Given the description of an element on the screen output the (x, y) to click on. 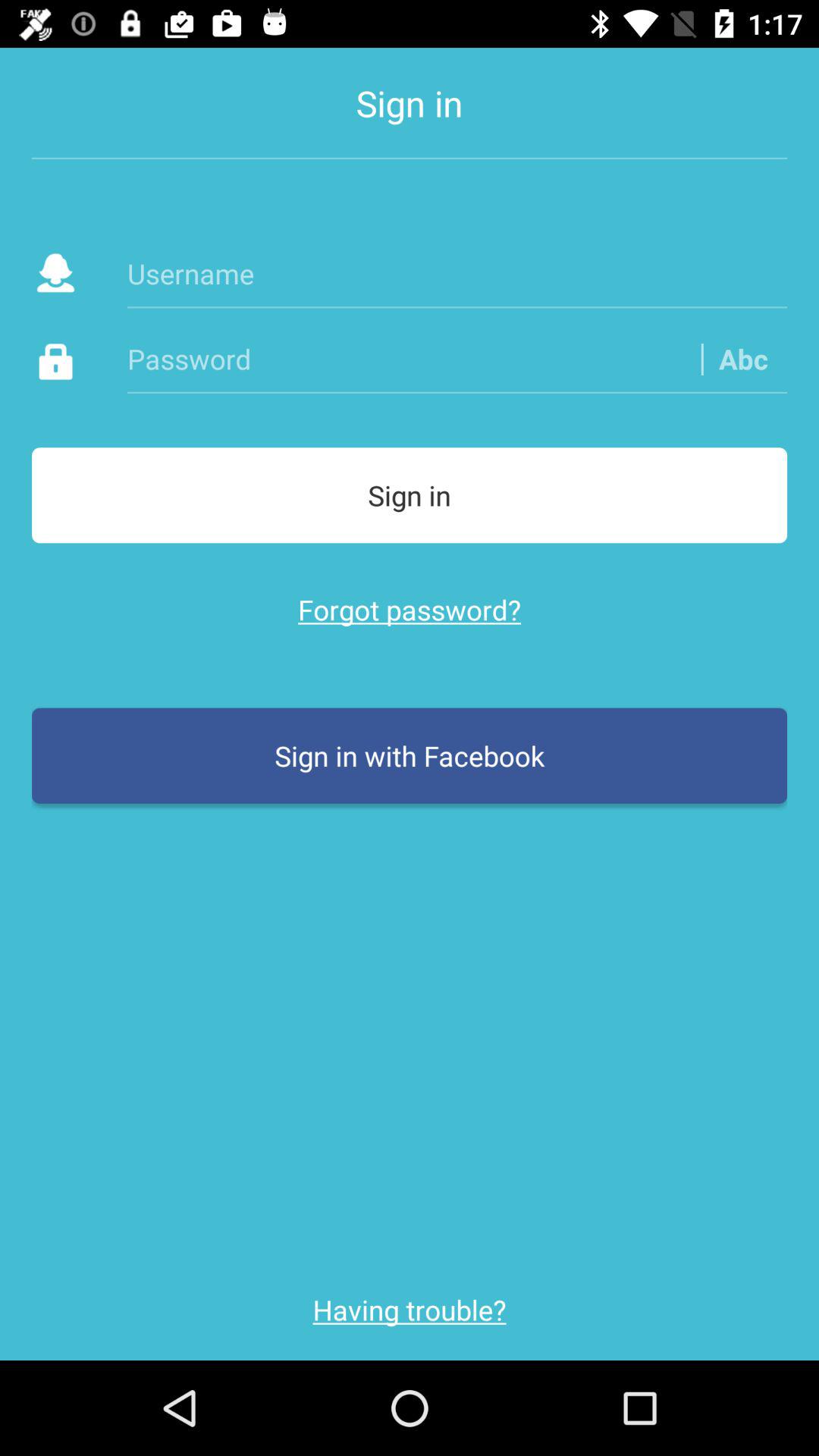
swipe to the abc item (743, 358)
